Given the description of an element on the screen output the (x, y) to click on. 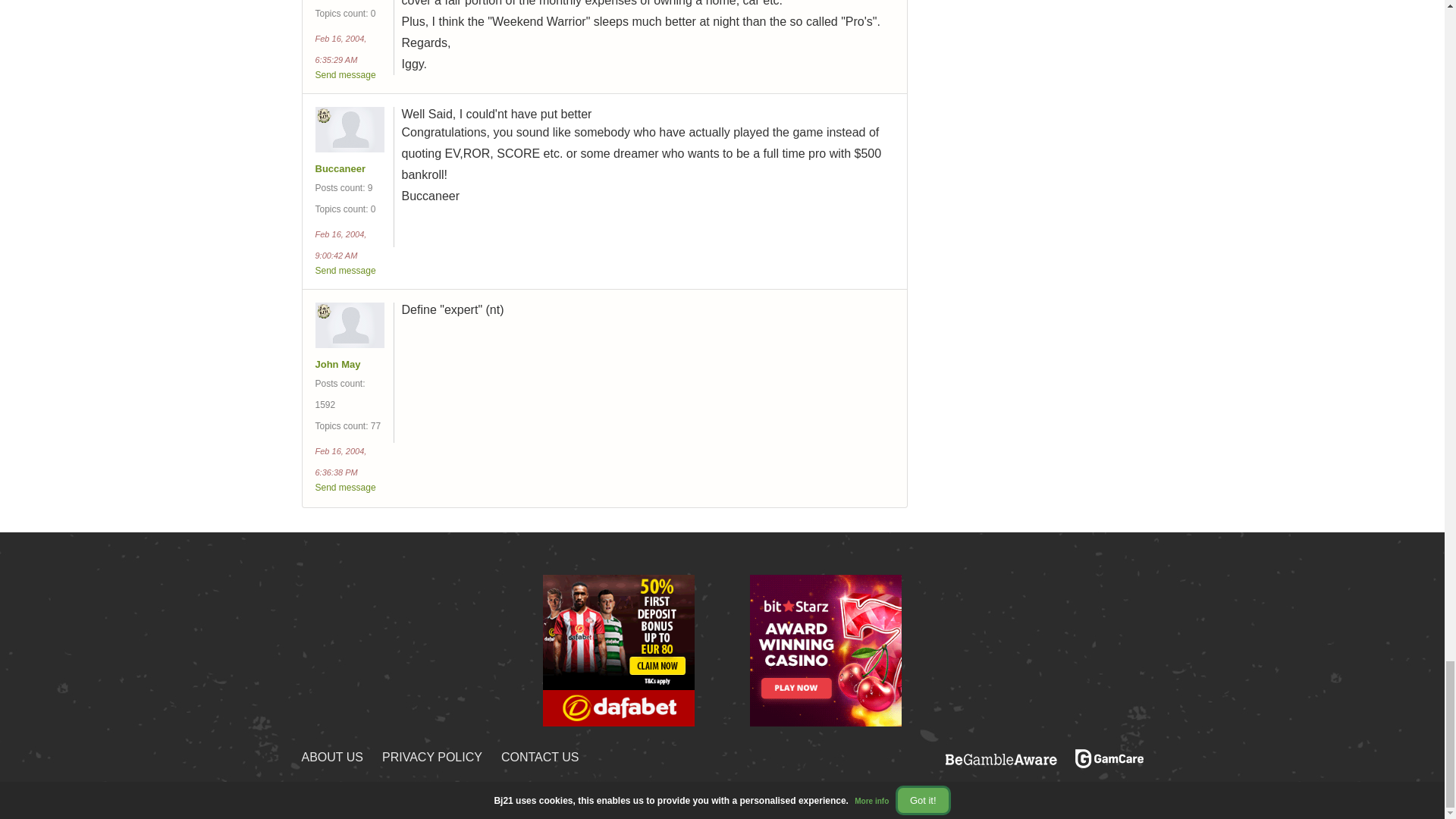
Visit Dafabet Casino (618, 649)
Visit BitStarz Casino (825, 649)
